Given the description of an element on the screen output the (x, y) to click on. 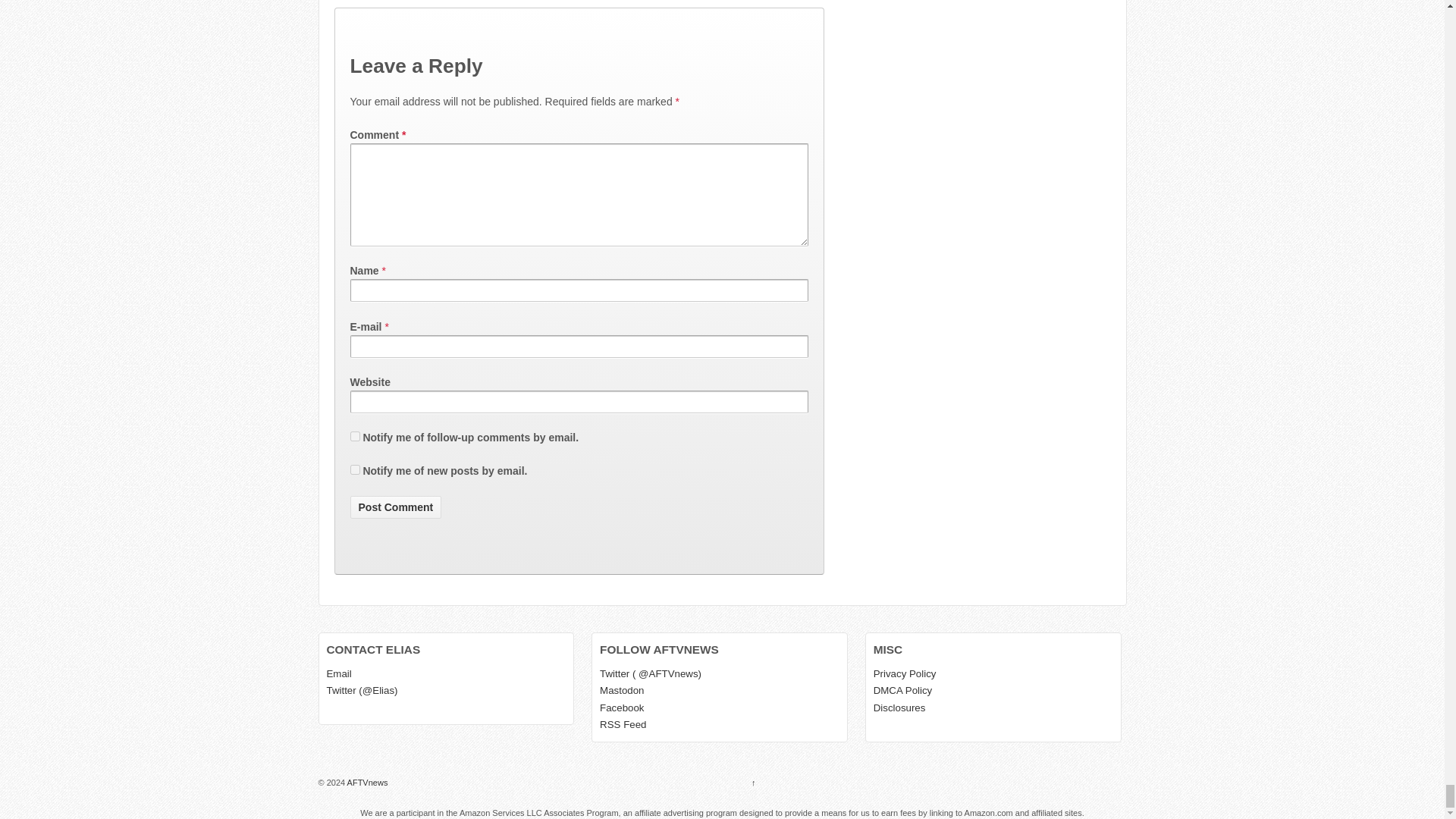
subscribe (354, 436)
Post Comment (396, 507)
subscribe (354, 470)
